Given the description of an element on the screen output the (x, y) to click on. 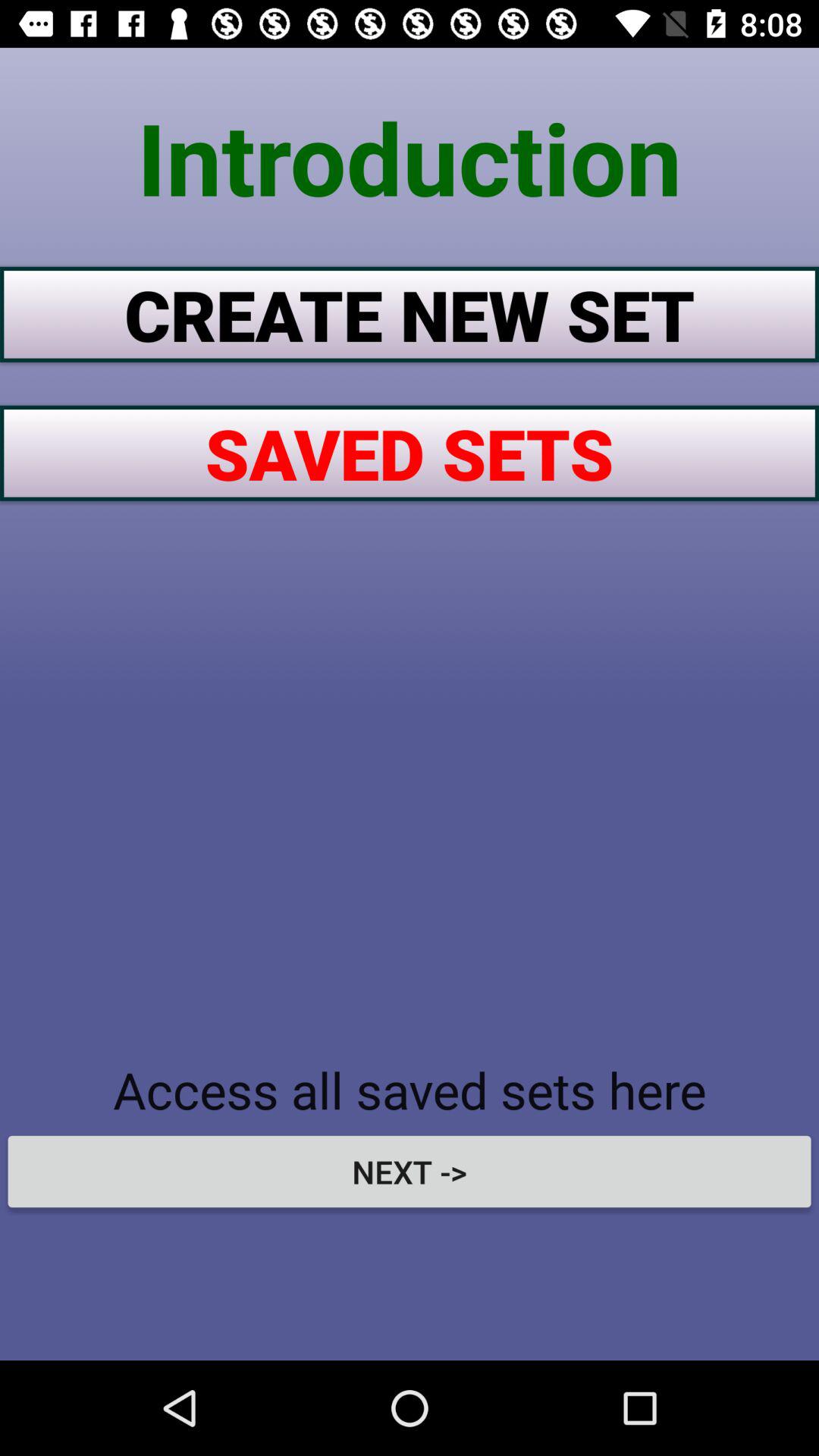
swipe to create new set (409, 314)
